Given the description of an element on the screen output the (x, y) to click on. 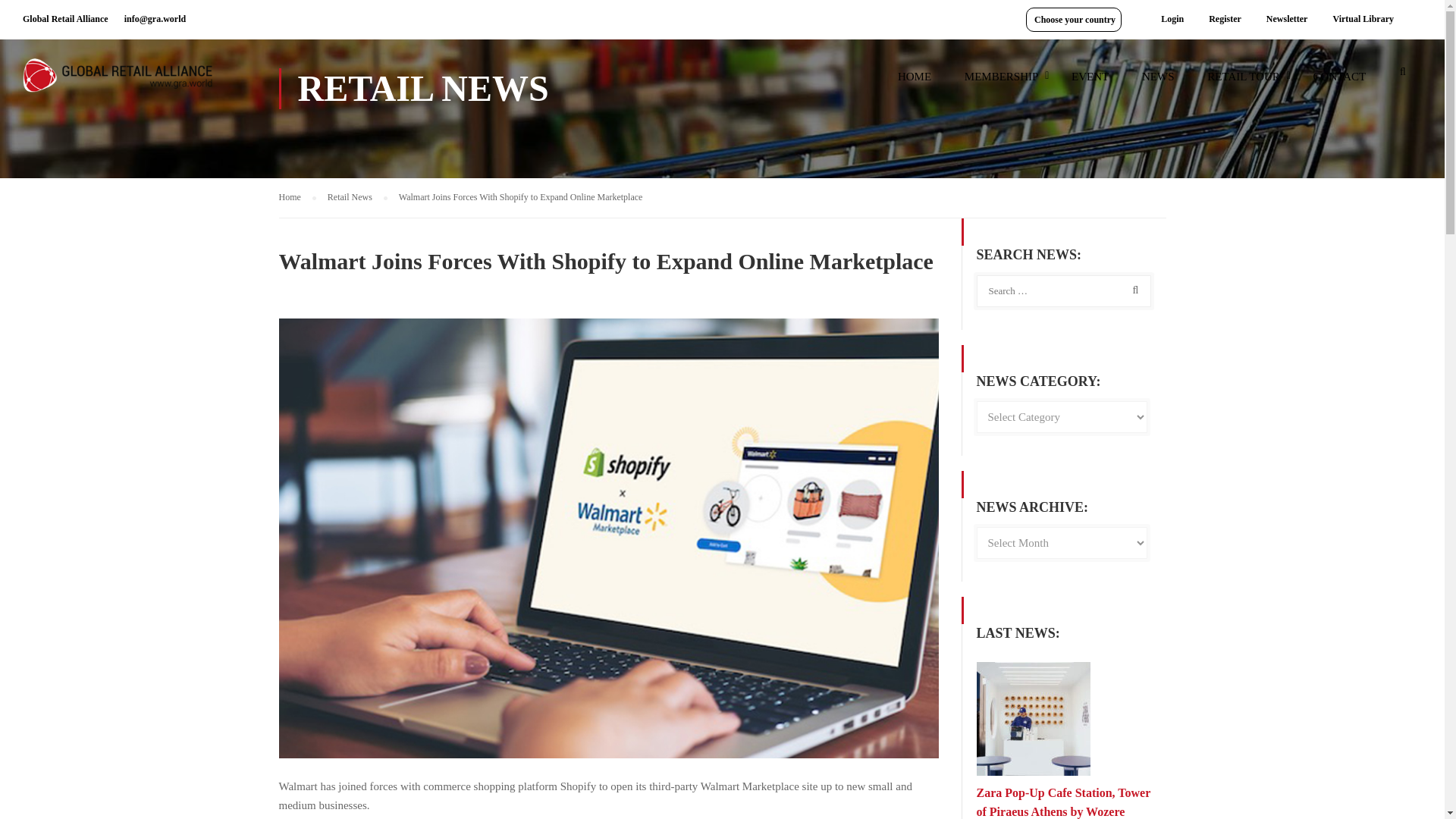
MEMBERSHIP (1001, 83)
Search (1403, 76)
Virtual Library (1362, 18)
Search (1403, 76)
Search (1132, 290)
NEWS (1157, 83)
Newsletter (1287, 18)
Home (297, 197)
GRA - Global Retail Alliance (117, 82)
